Given the description of an element on the screen output the (x, y) to click on. 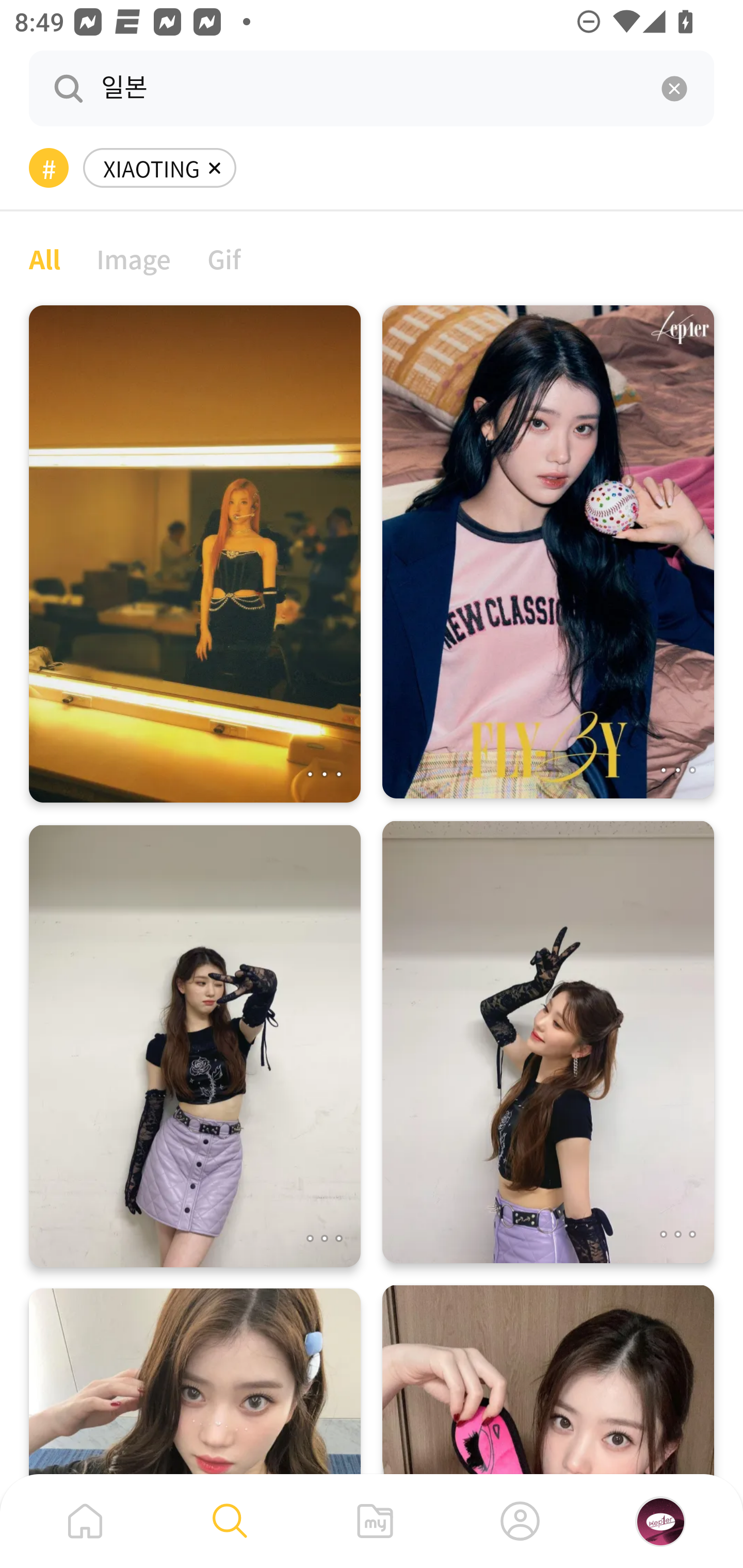
All (44, 257)
Image (133, 257)
Gif (223, 257)
